Given the description of an element on the screen output the (x, y) to click on. 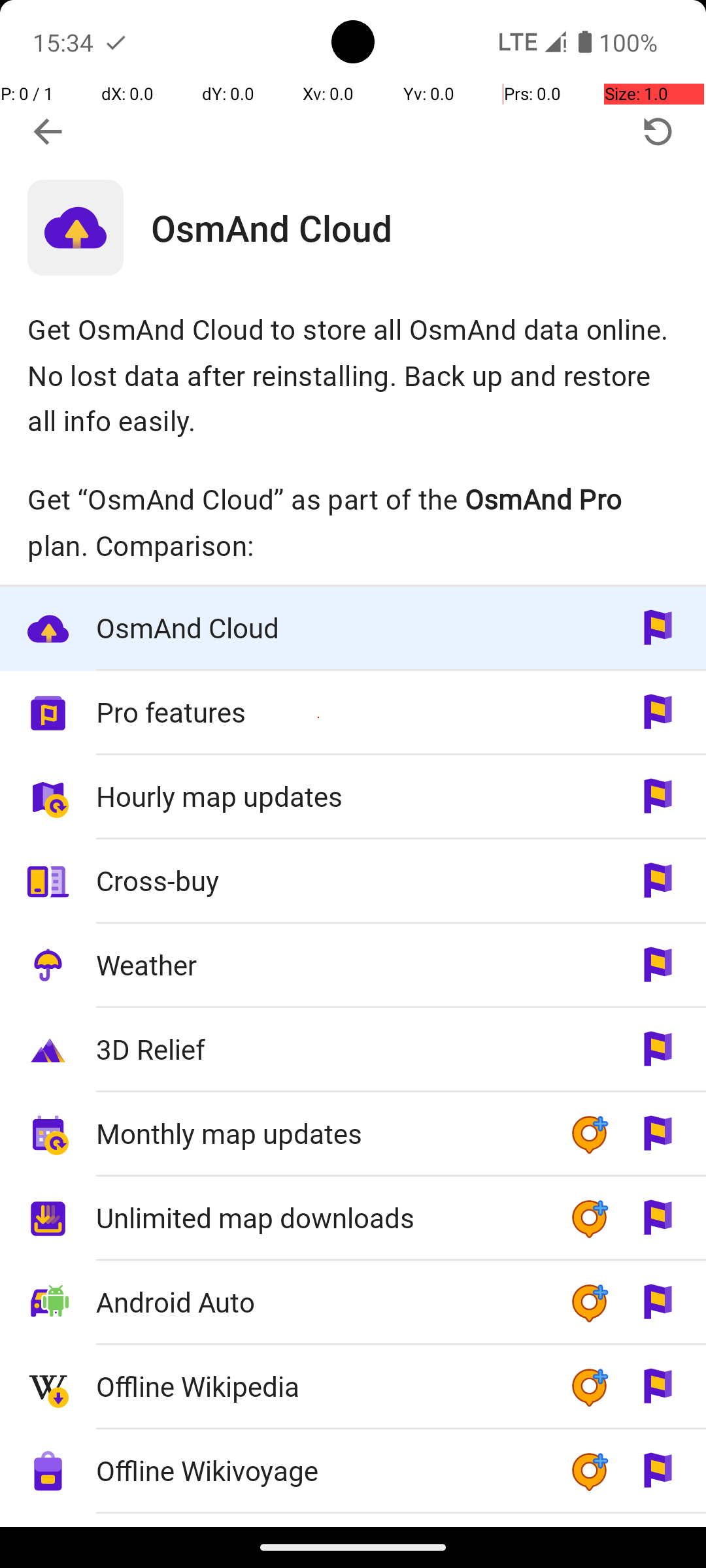
OsmAnd Cloud Element type: android.widget.TextView (428, 227)
Restore purchases Element type: android.widget.ImageButton (657, 131)
Get OsmAnd Cloud to store all OsmAnd data online. No lost data after reinstalling. Back up and restore all info easily. Element type: android.widget.TextView (353, 374)
Get “OsmAnd Cloud” as part of the OsmAnd Pro plan. Comparison: Element type: android.widget.TextView (353, 521)
OsmAnd Cloud available as part of the OsmAnd Pro plan Element type: android.widget.LinearLayout (353, 628)
Pro features available as part of the OsmAnd Pro plan Element type: android.widget.LinearLayout (353, 712)
Hourly map updates available as part of the OsmAnd Pro plan Element type: android.widget.LinearLayout (353, 797)
Cross-buy available as part of the OsmAnd Pro plan Element type: android.widget.LinearLayout (353, 881)
Weather available as part of the OsmAnd Pro plan Element type: android.widget.LinearLayout (353, 965)
3D Relief available as part of the OsmAnd Pro plan Element type: android.widget.LinearLayout (353, 1050)
Monthly map updates available as part of the OsmAnd+ or OsmAnd Pro plan Element type: android.widget.LinearLayout (353, 1134)
Unlimited map downloads available as part of the OsmAnd+ or OsmAnd Pro plan Element type: android.widget.LinearLayout (353, 1218)
Android Auto available as part of the OsmAnd+ or OsmAnd Pro plan Element type: android.widget.LinearLayout (353, 1302)
Offline Wikipedia available as part of the OsmAnd+ or OsmAnd Pro plan Element type: android.widget.LinearLayout (353, 1387)
Offline Wikivoyage available as part of the OsmAnd+ or OsmAnd Pro plan Element type: android.widget.LinearLayout (353, 1471)
External sensors support available as part of the OsmAnd+ or OsmAnd Pro plan Element type: android.widget.LinearLayout (353, 1519)
Pro features Element type: android.widget.TextView (318, 711)
Hourly map updates Element type: android.widget.TextView (318, 795)
Cross-buy Element type: android.widget.TextView (318, 879)
Weather Element type: android.widget.TextView (318, 964)
3D Relief Element type: android.widget.TextView (318, 1048)
Monthly map updates Element type: android.widget.TextView (318, 1132)
Unlimited map downloads Element type: android.widget.TextView (318, 1217)
Offline Wikipedia Element type: android.widget.TextView (318, 1385)
Offline Wikivoyage Element type: android.widget.TextView (318, 1469)
External sensors support Element type: android.widget.TextView (318, 1520)
